Given the description of an element on the screen output the (x, y) to click on. 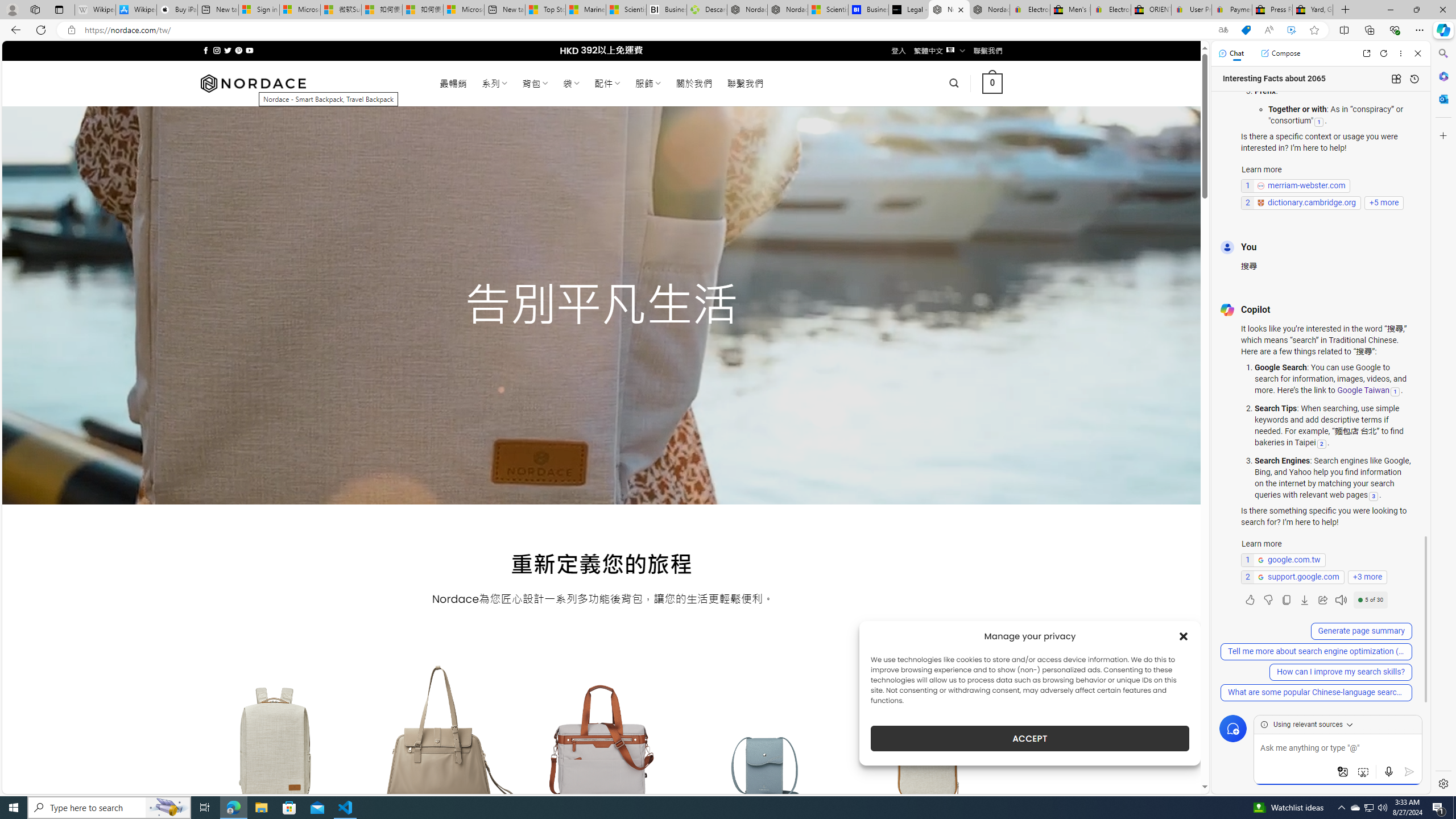
Enhance video (1291, 29)
